Given the description of an element on the screen output the (x, y) to click on. 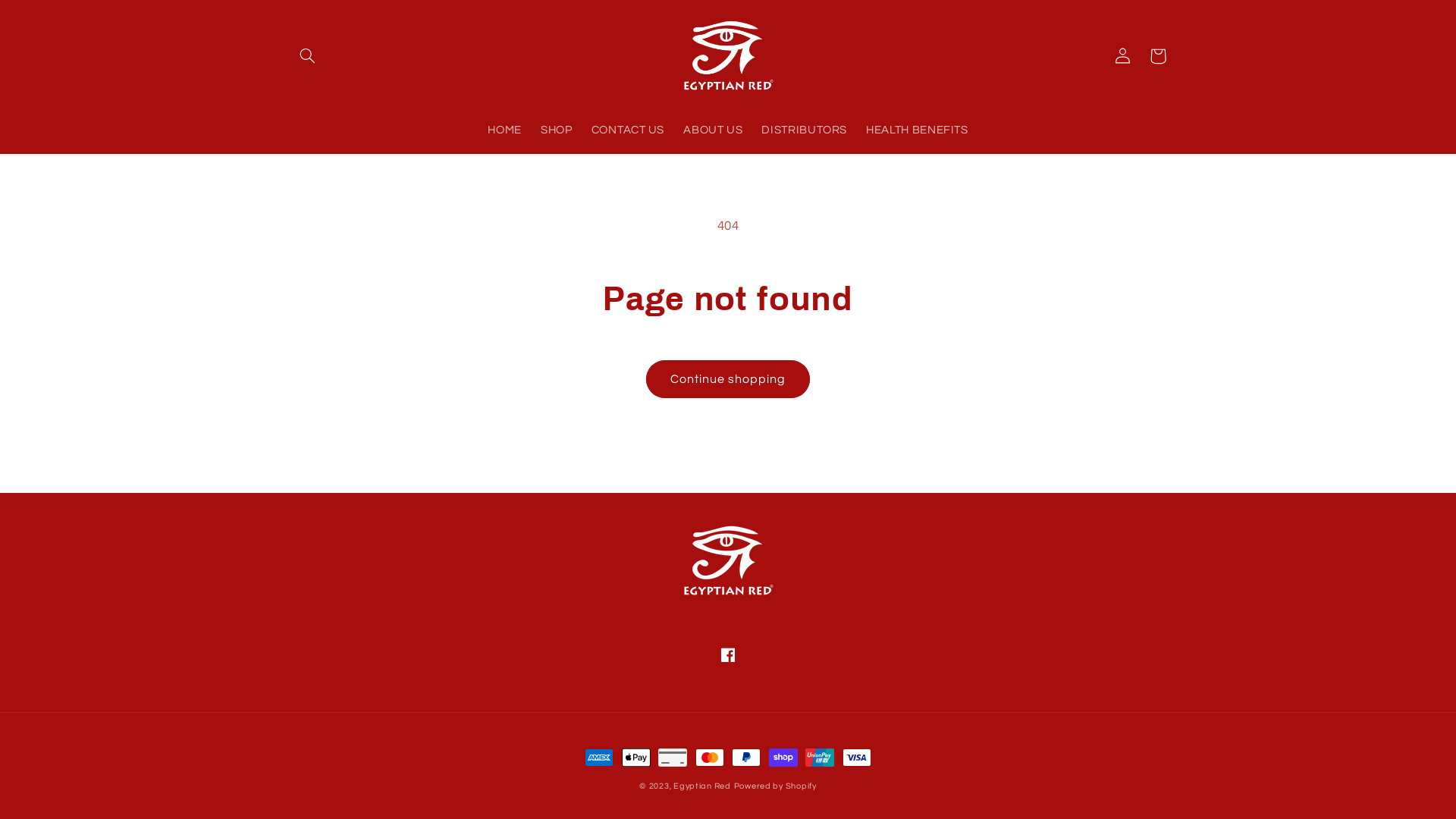
CONTACT US Element type: text (627, 130)
Cart Element type: text (1157, 55)
ABOUT US Element type: text (713, 130)
Continue shopping Element type: text (727, 378)
Powered by Shopify Element type: text (775, 785)
Egyptian Red Element type: text (702, 785)
HOME Element type: text (504, 130)
Facebook Element type: text (727, 654)
DISTRIBUTORS Element type: text (804, 130)
Log in Element type: text (1122, 55)
HEALTH BENEFITS Element type: text (917, 130)
SHOP Element type: text (555, 130)
